Given the description of an element on the screen output the (x, y) to click on. 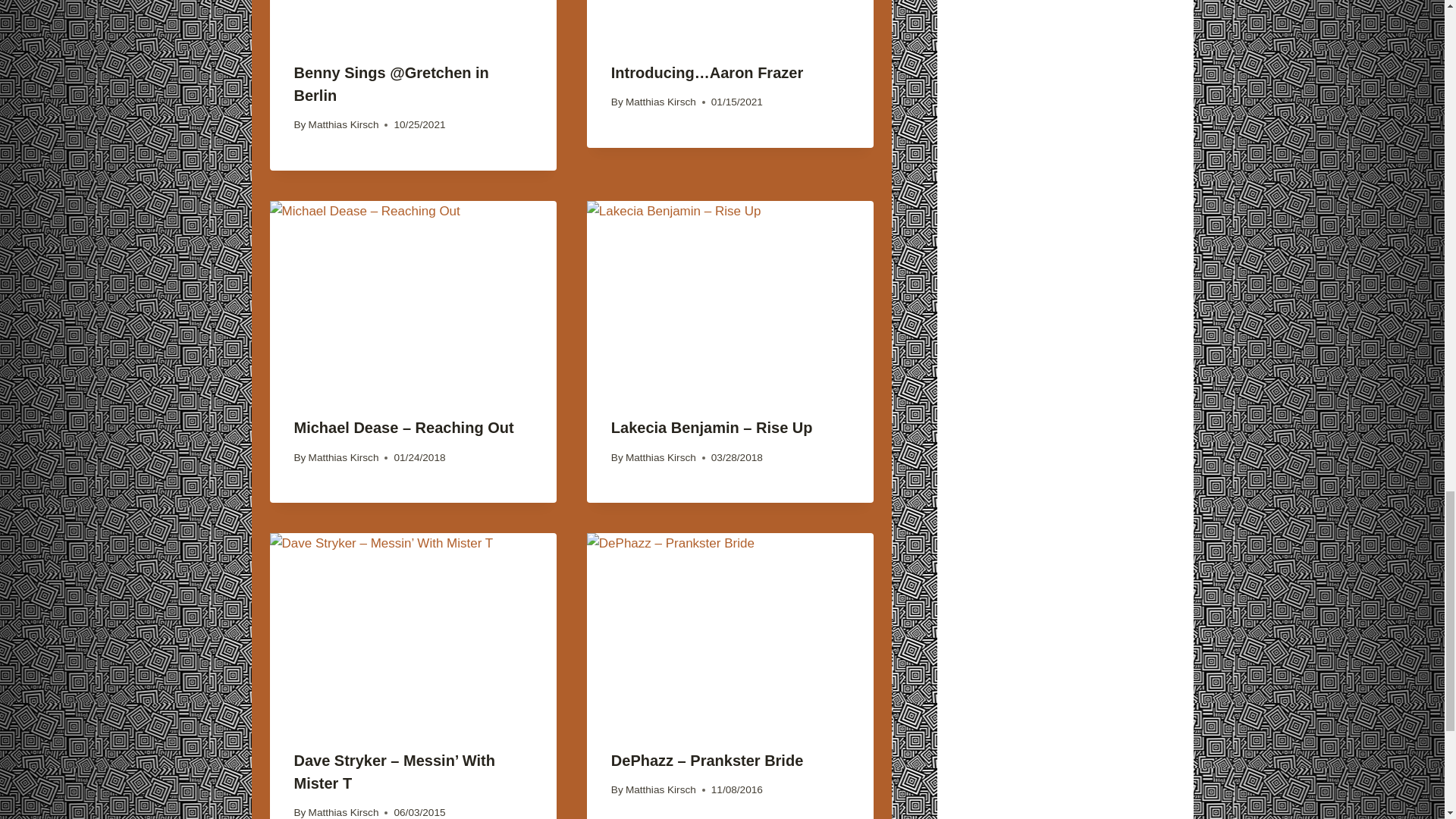
Matthias Kirsch (660, 457)
Matthias Kirsch (343, 124)
Matthias Kirsch (343, 457)
Matthias Kirsch (660, 101)
